Given the description of an element on the screen output the (x, y) to click on. 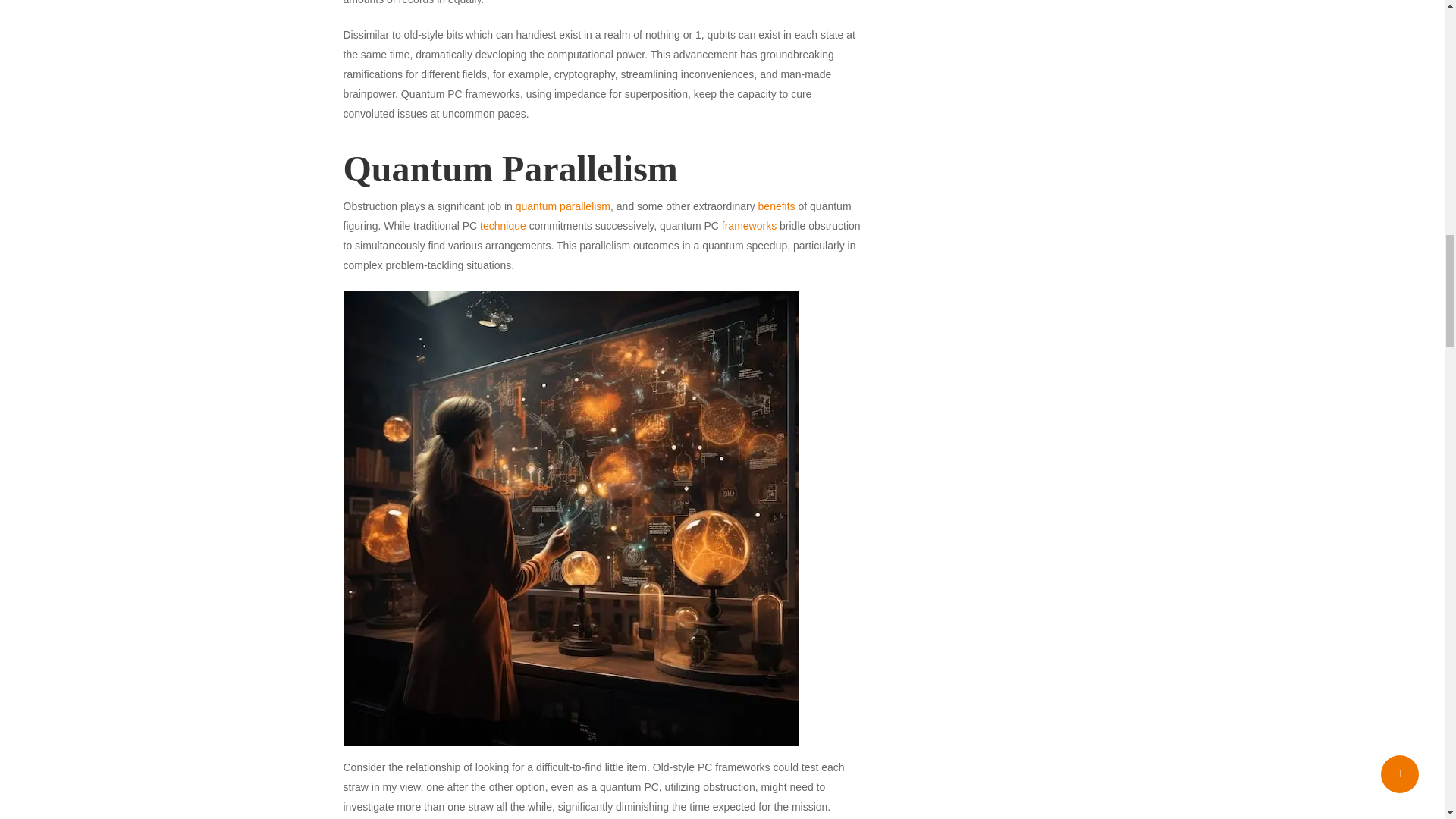
quantum parallelism (562, 205)
frameworks (749, 225)
technique (502, 225)
benefits (776, 205)
